Given the description of an element on the screen output the (x, y) to click on. 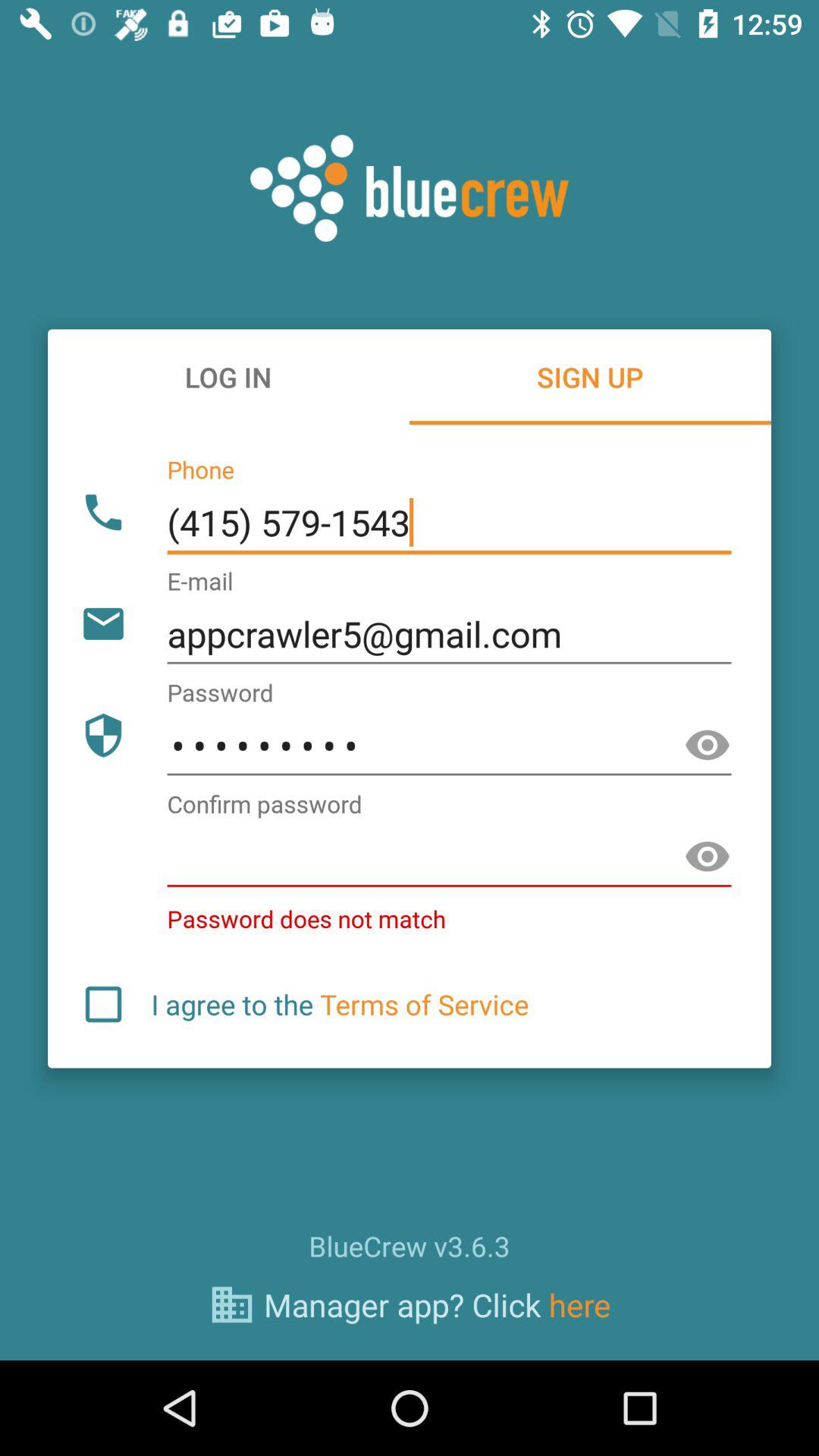
show password (707, 745)
